Given the description of an element on the screen output the (x, y) to click on. 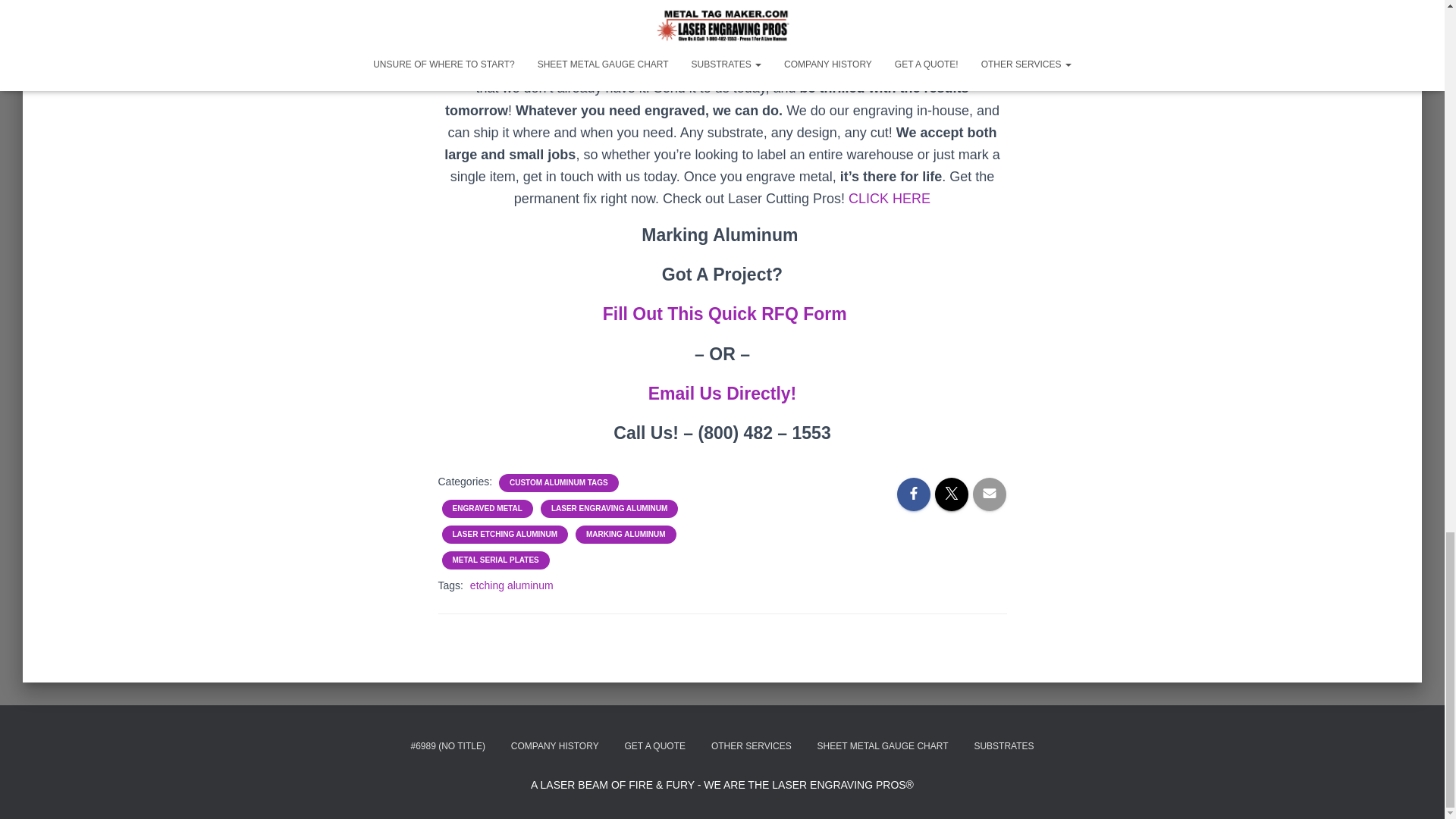
CUSTOM ALUMINUM TAGS (559, 482)
Fill Out This Quick RFQ Form (724, 313)
CLICK HERE (889, 198)
METAL SERIAL PLATES (494, 560)
MARKING ALUMINUM (625, 534)
COMPANY HISTORY (554, 746)
SHEET METAL GAUGE CHART (882, 746)
etching aluminum (511, 585)
SUBSTRATES (1003, 746)
LASER ENGRAVING ALUMINUM (609, 508)
GET A QUOTE (654, 746)
ENGRAVED METAL (485, 508)
LASER ETCHING ALUMINUM (504, 534)
OTHER SERVICES (751, 746)
Email Us Directly! (721, 393)
